Given the description of an element on the screen output the (x, y) to click on. 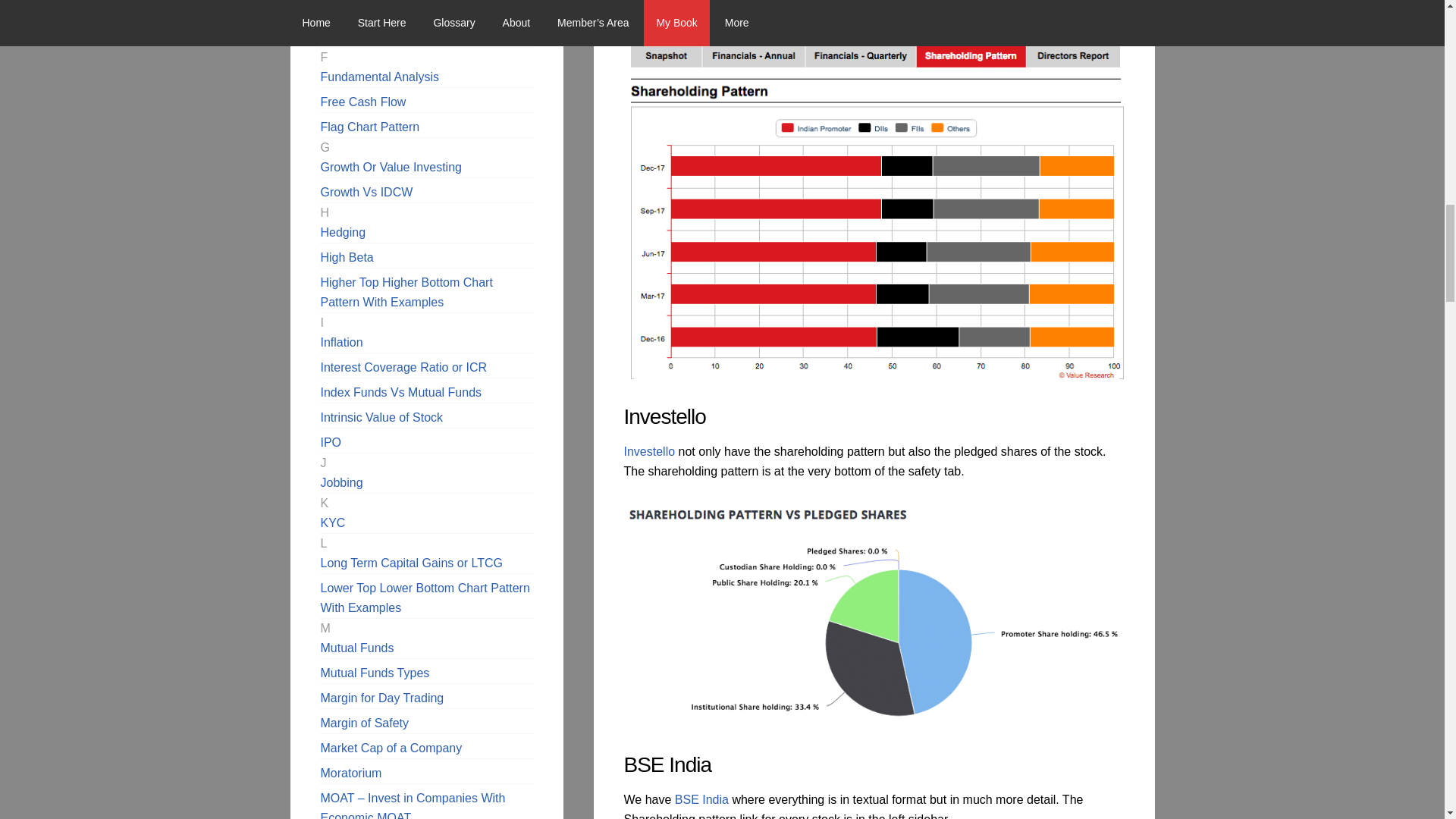
BSE India (702, 799)
Investello (649, 451)
